Given the description of an element on the screen output the (x, y) to click on. 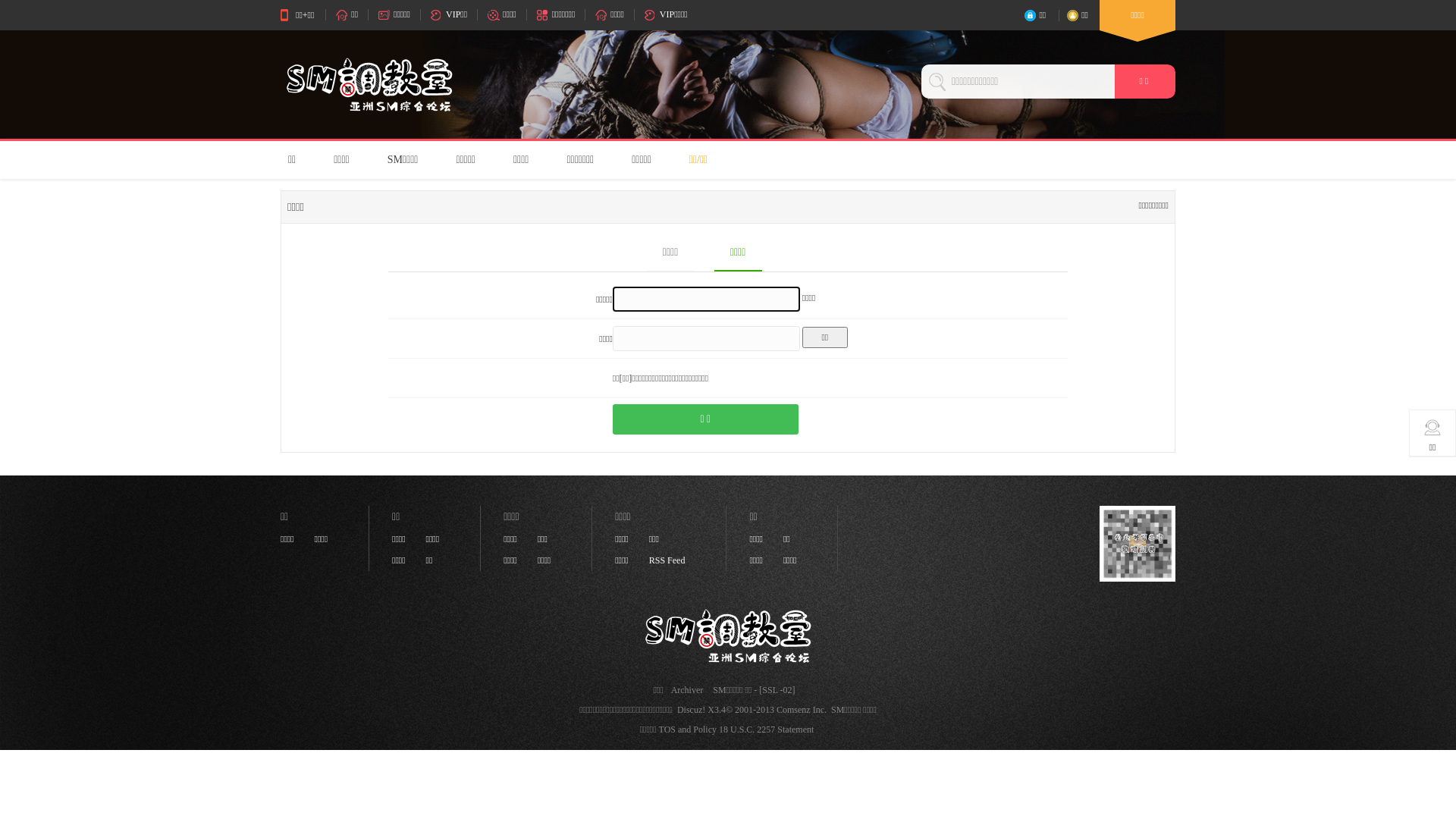
Archiver Element type: text (687, 689)
18 U.S.C. 2257 Statement Element type: text (765, 729)
Discuz! Element type: text (691, 709)
Comsenz Inc. Element type: text (801, 709)
RSS Feed Element type: text (667, 560)
